Given the description of an element on the screen output the (x, y) to click on. 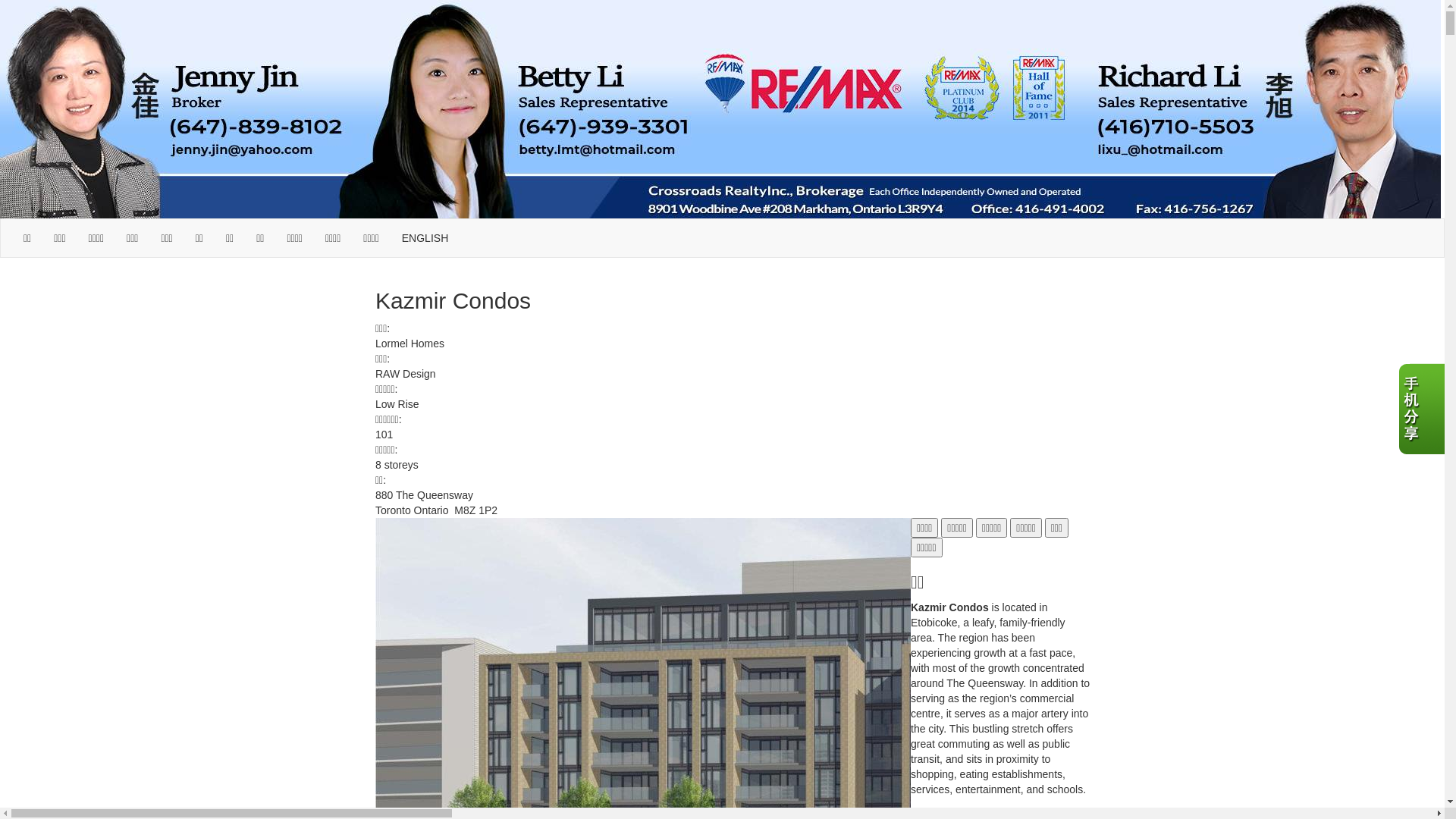
ENGLISH Element type: text (424, 238)
